Given the description of an element on the screen output the (x, y) to click on. 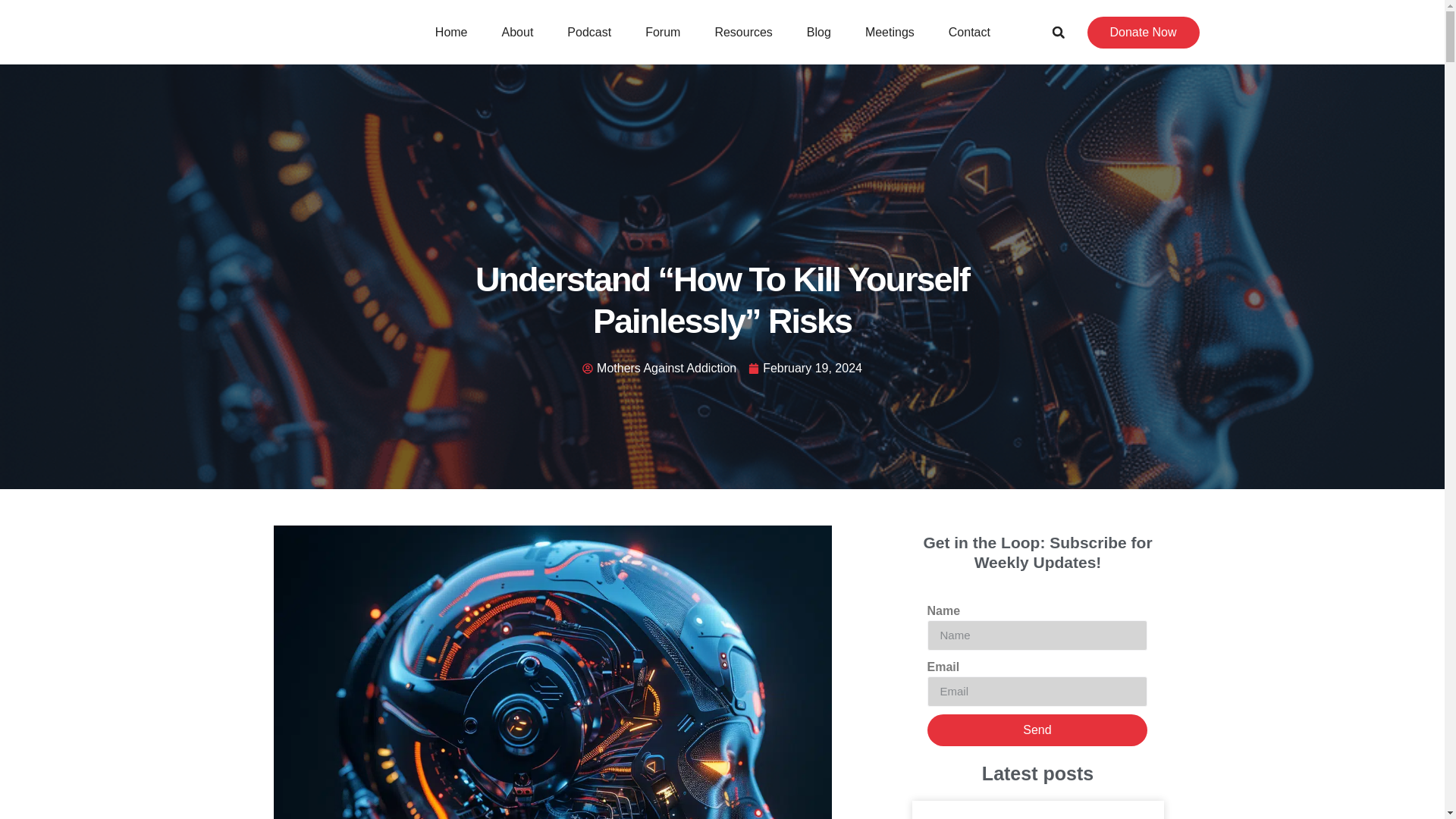
Podcast (588, 32)
About (517, 32)
Blog (818, 32)
Forum (662, 32)
Send (1036, 730)
Mothers Against Addiction (659, 368)
Meetings (890, 32)
Resources (742, 32)
Home (451, 32)
Donate Now (1143, 32)
